Given the description of an element on the screen output the (x, y) to click on. 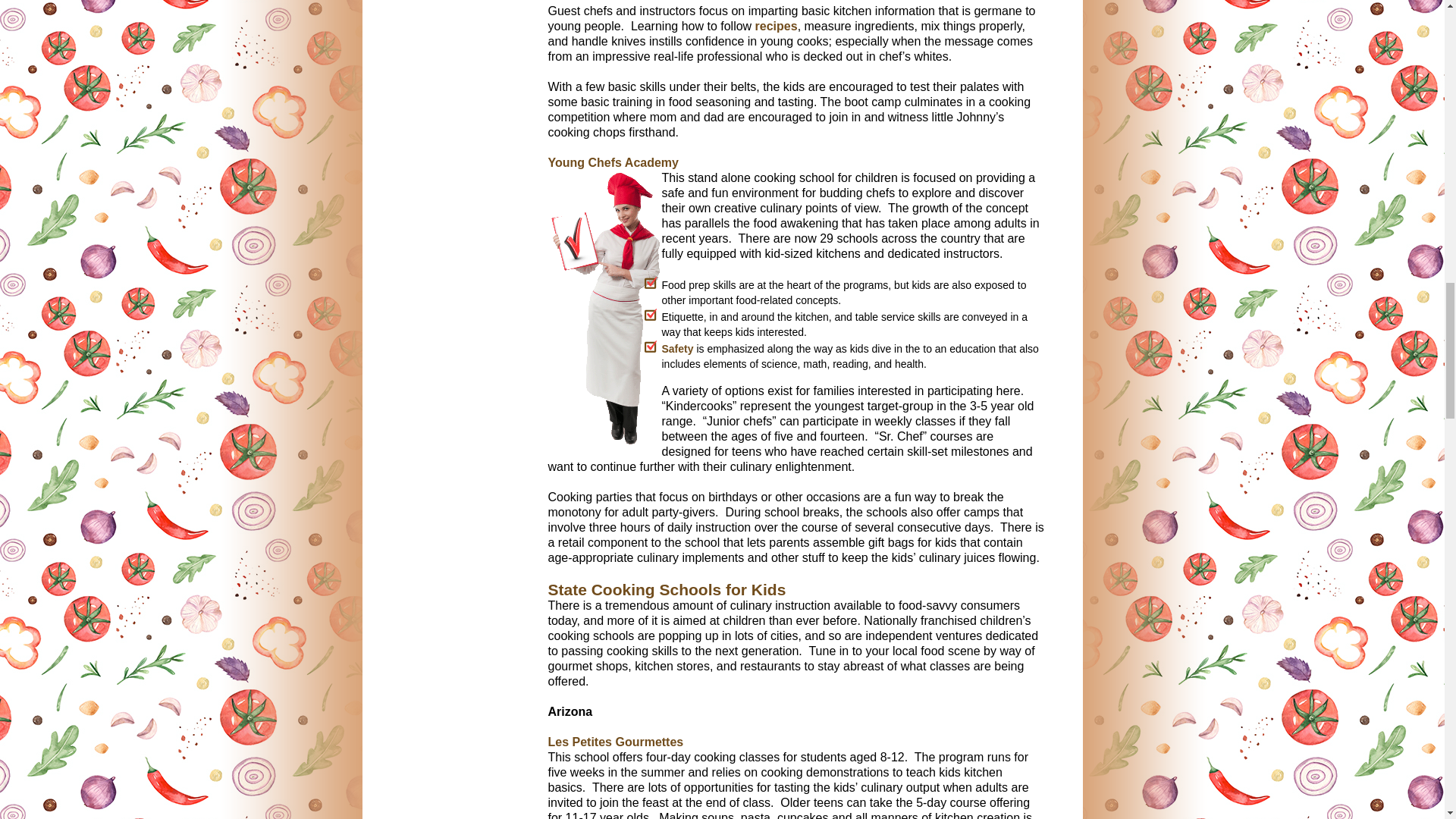
recipes (776, 25)
Les Petites Gourmettes (614, 741)
Young Chefs Academy (612, 162)
Safety (677, 348)
